Given the description of an element on the screen output the (x, y) to click on. 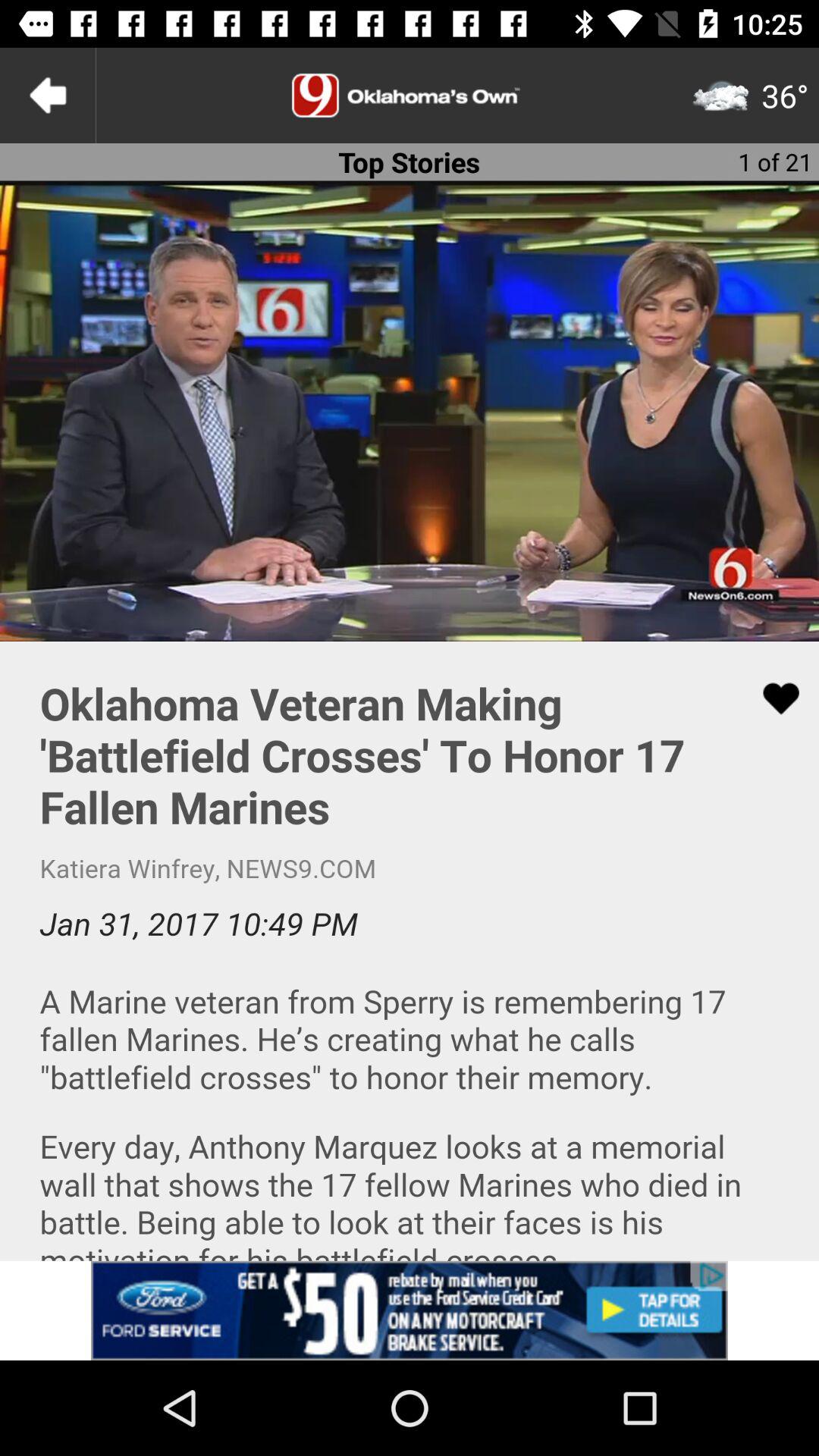
going back to the previous page (47, 95)
